Given the description of an element on the screen output the (x, y) to click on. 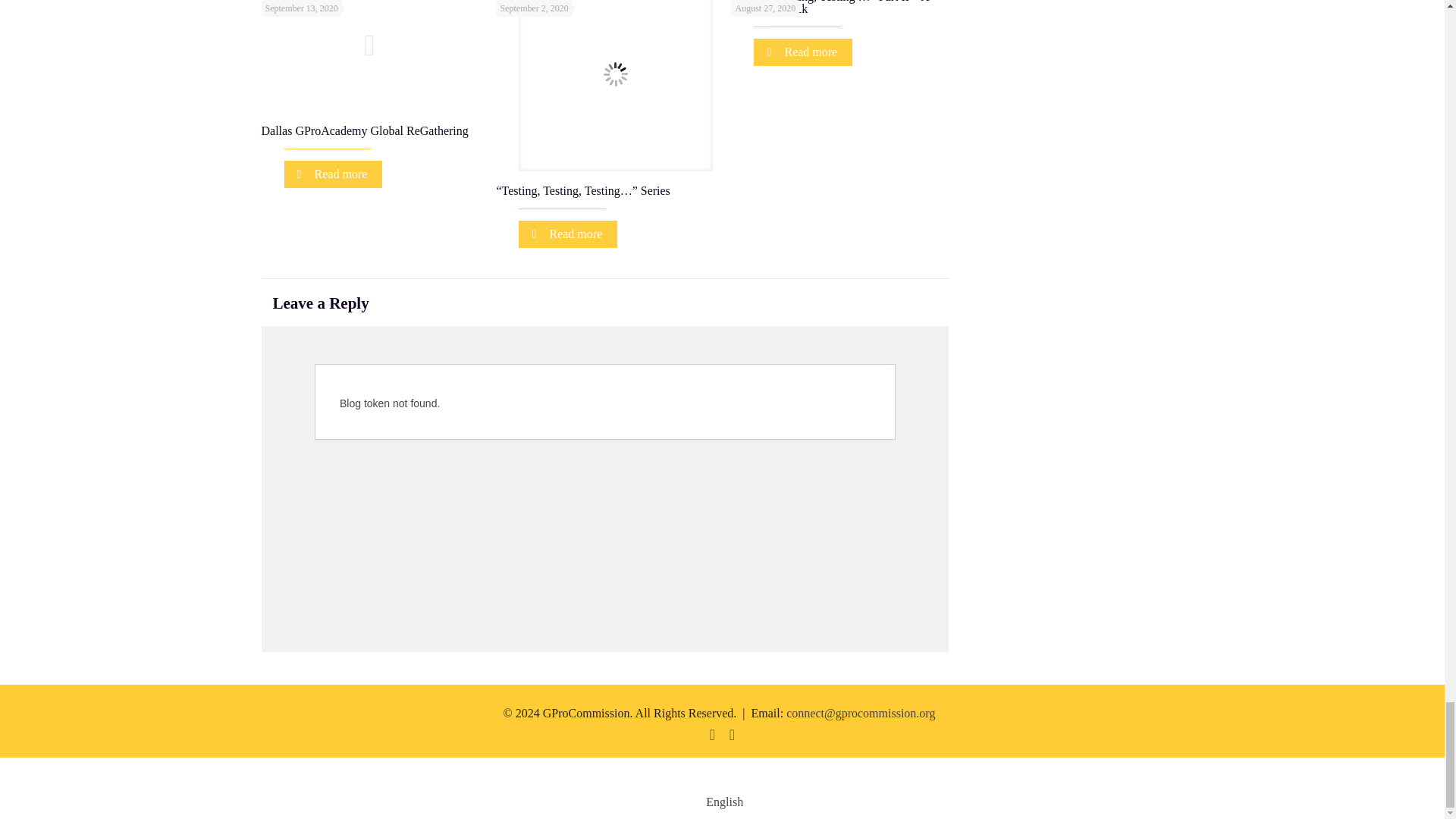
Instagram (732, 736)
Facebook (712, 736)
